Given the description of an element on the screen output the (x, y) to click on. 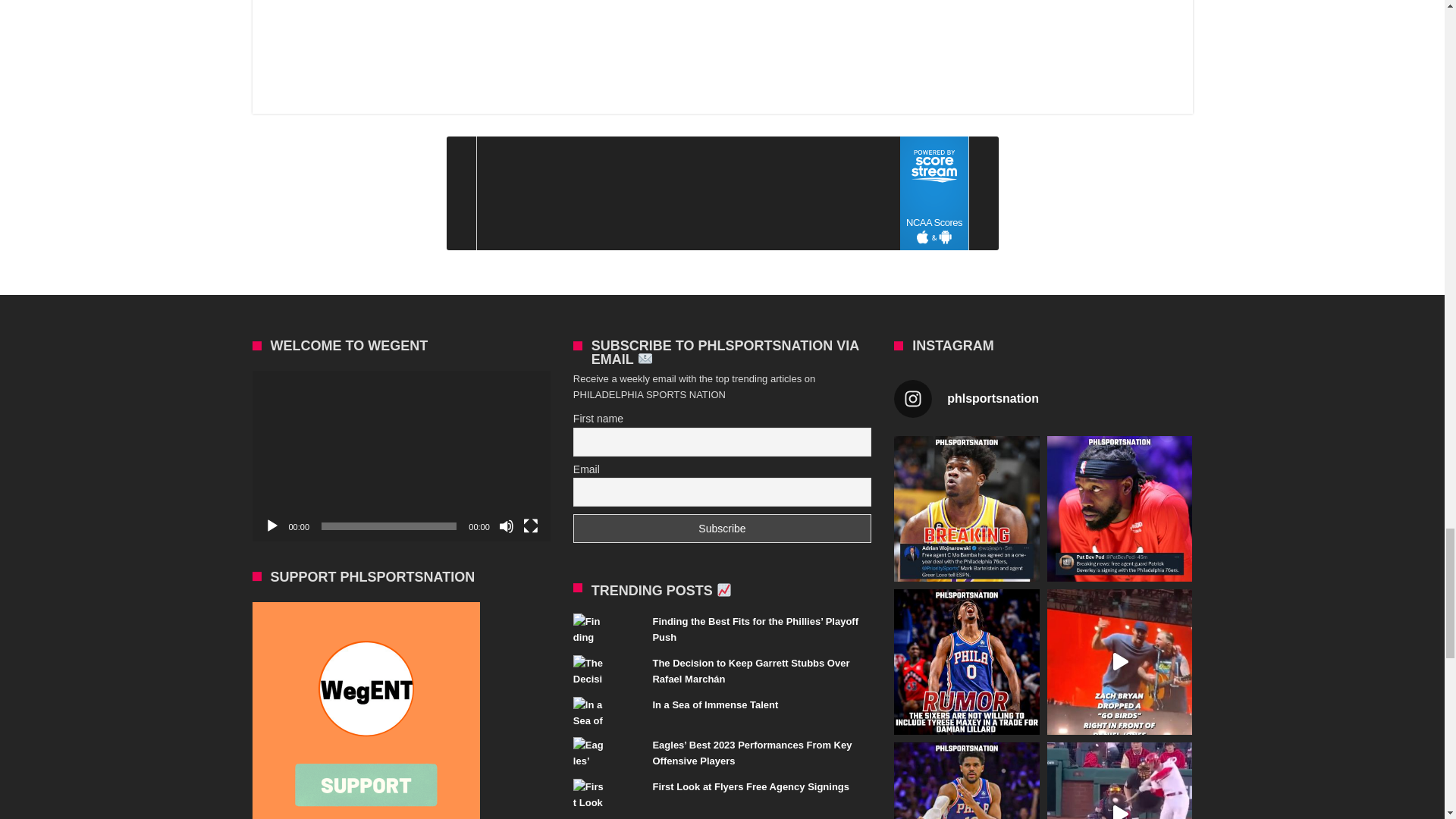
Subscribe (721, 528)
